Given the description of an element on the screen output the (x, y) to click on. 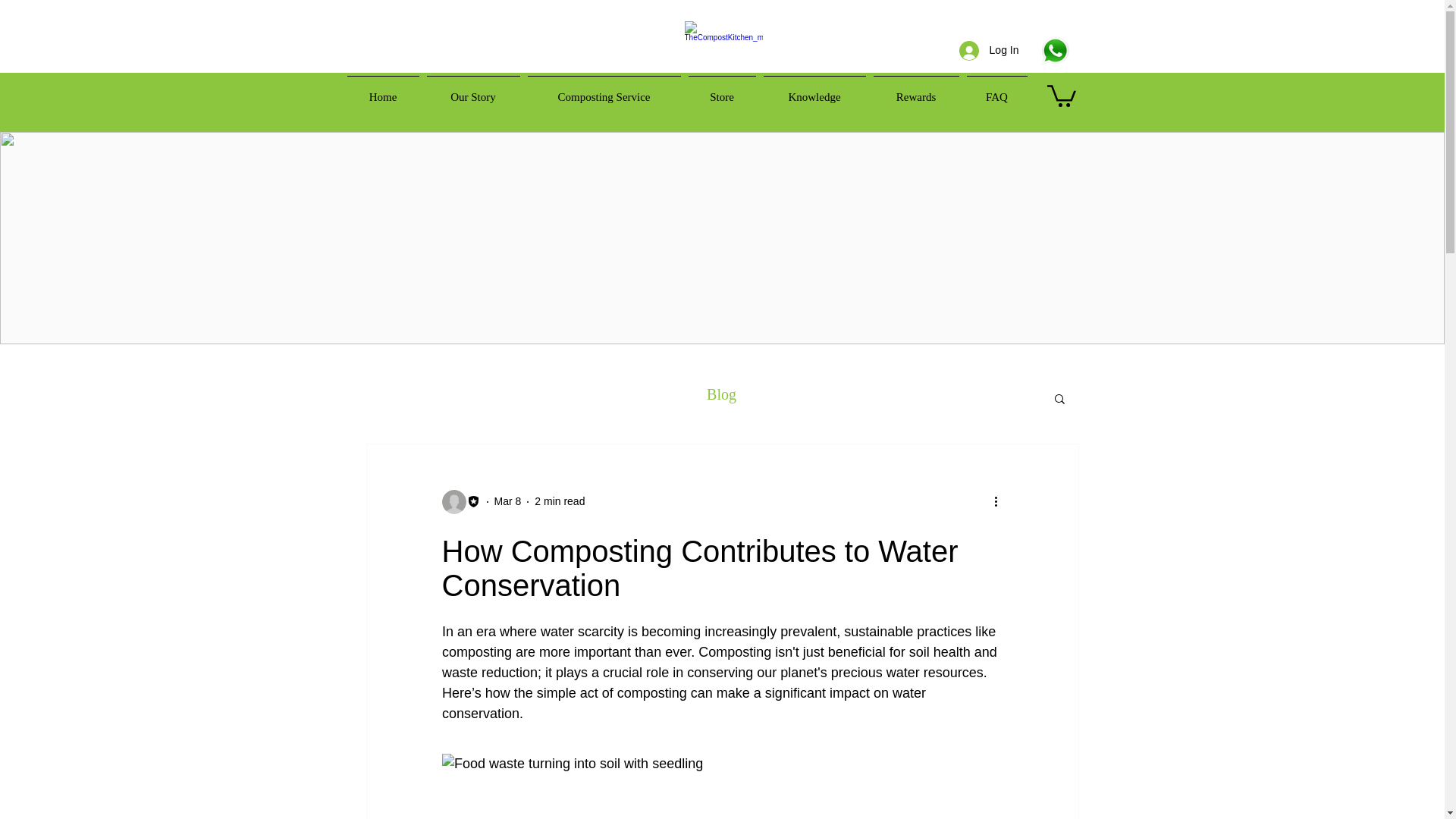
Log In (989, 50)
Mar 8 (508, 500)
FAQ (996, 90)
Rewards (915, 90)
Knowledge (814, 90)
Store (721, 90)
Home (382, 90)
Our Story (473, 90)
2 min read (559, 500)
Composting Service (603, 90)
